Given the description of an element on the screen output the (x, y) to click on. 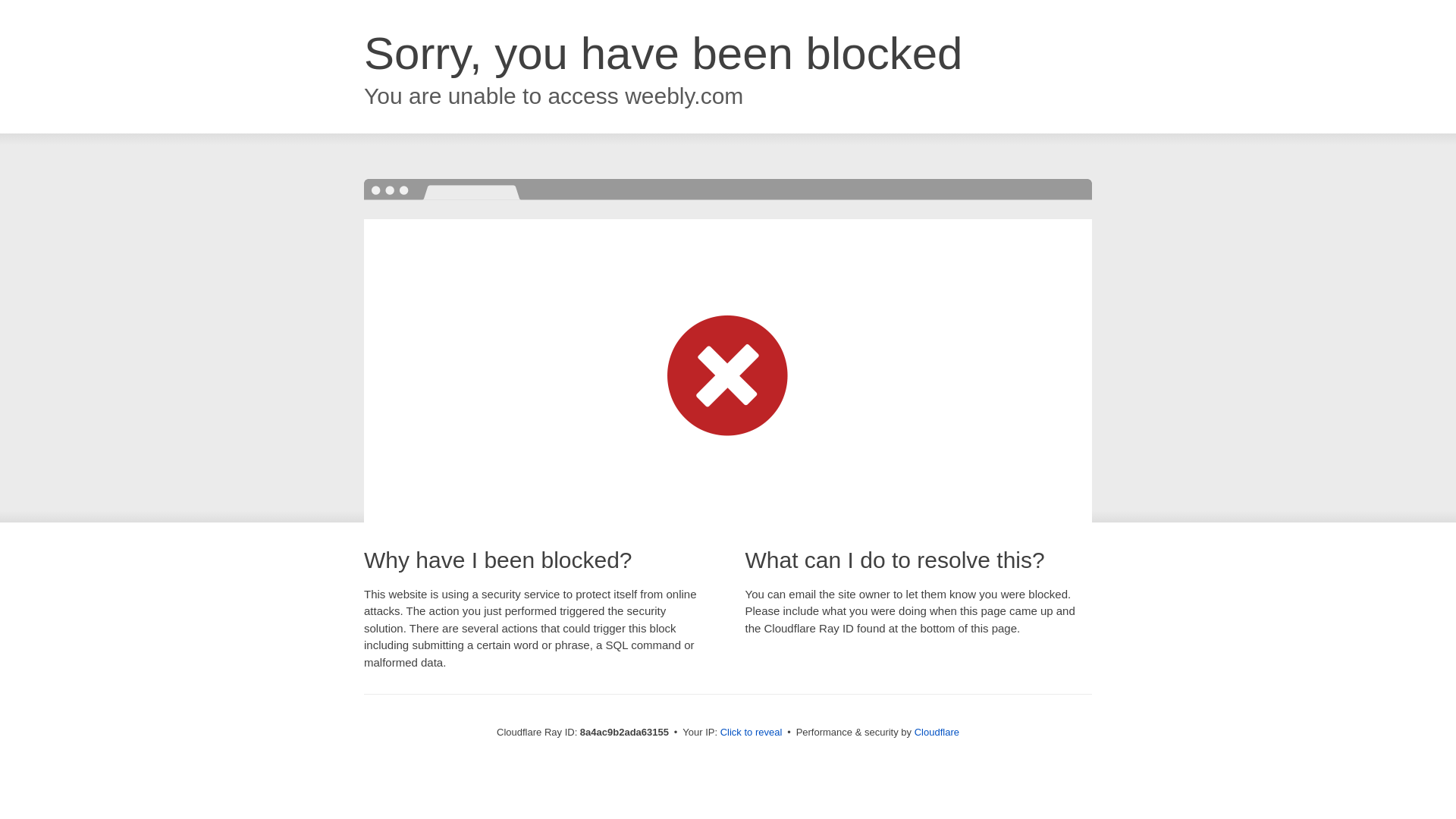
Click to reveal (751, 732)
Cloudflare (936, 731)
